Given the description of an element on the screen output the (x, y) to click on. 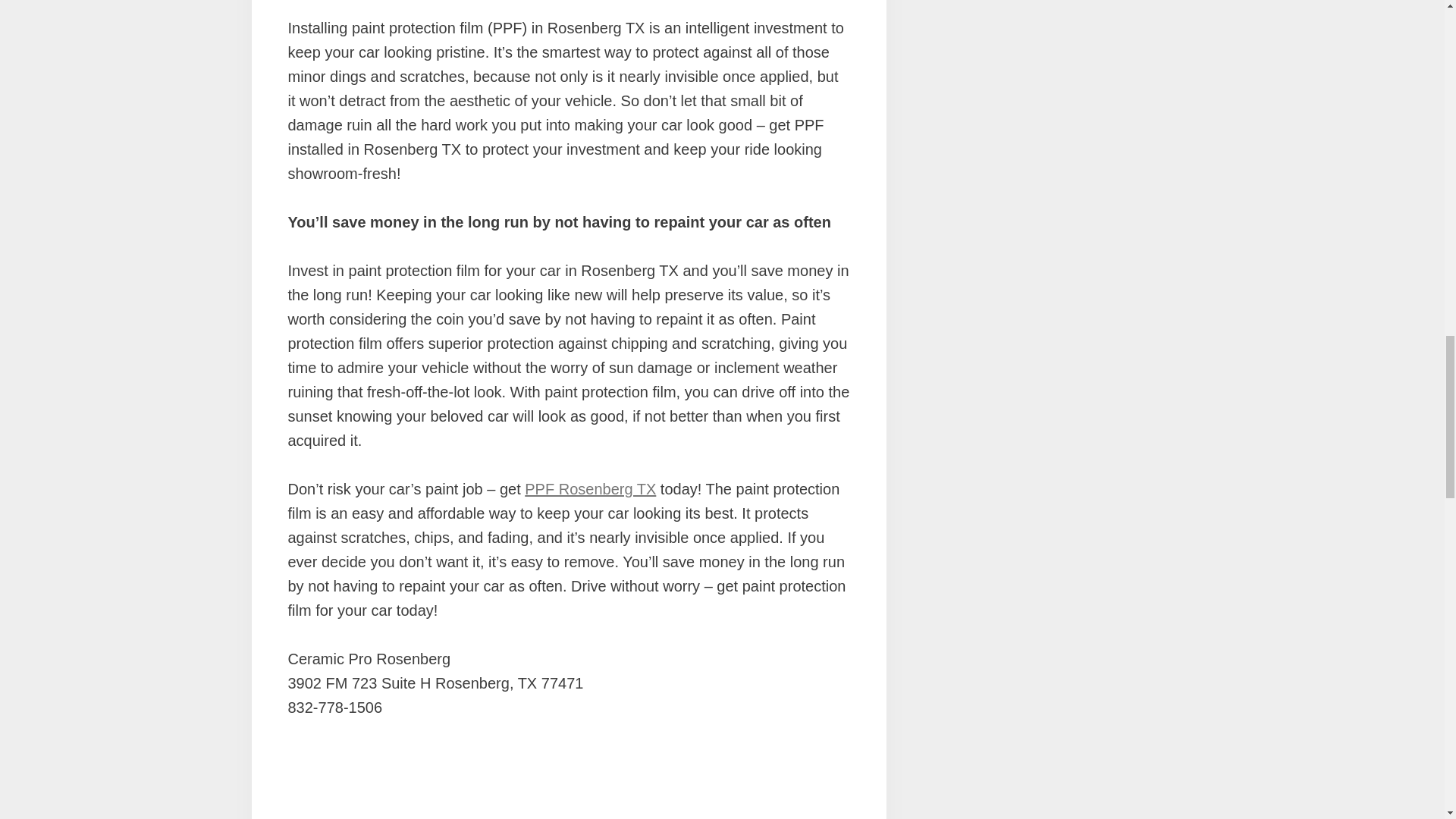
PPF Rosenberg TX (590, 488)
